Given the description of an element on the screen output the (x, y) to click on. 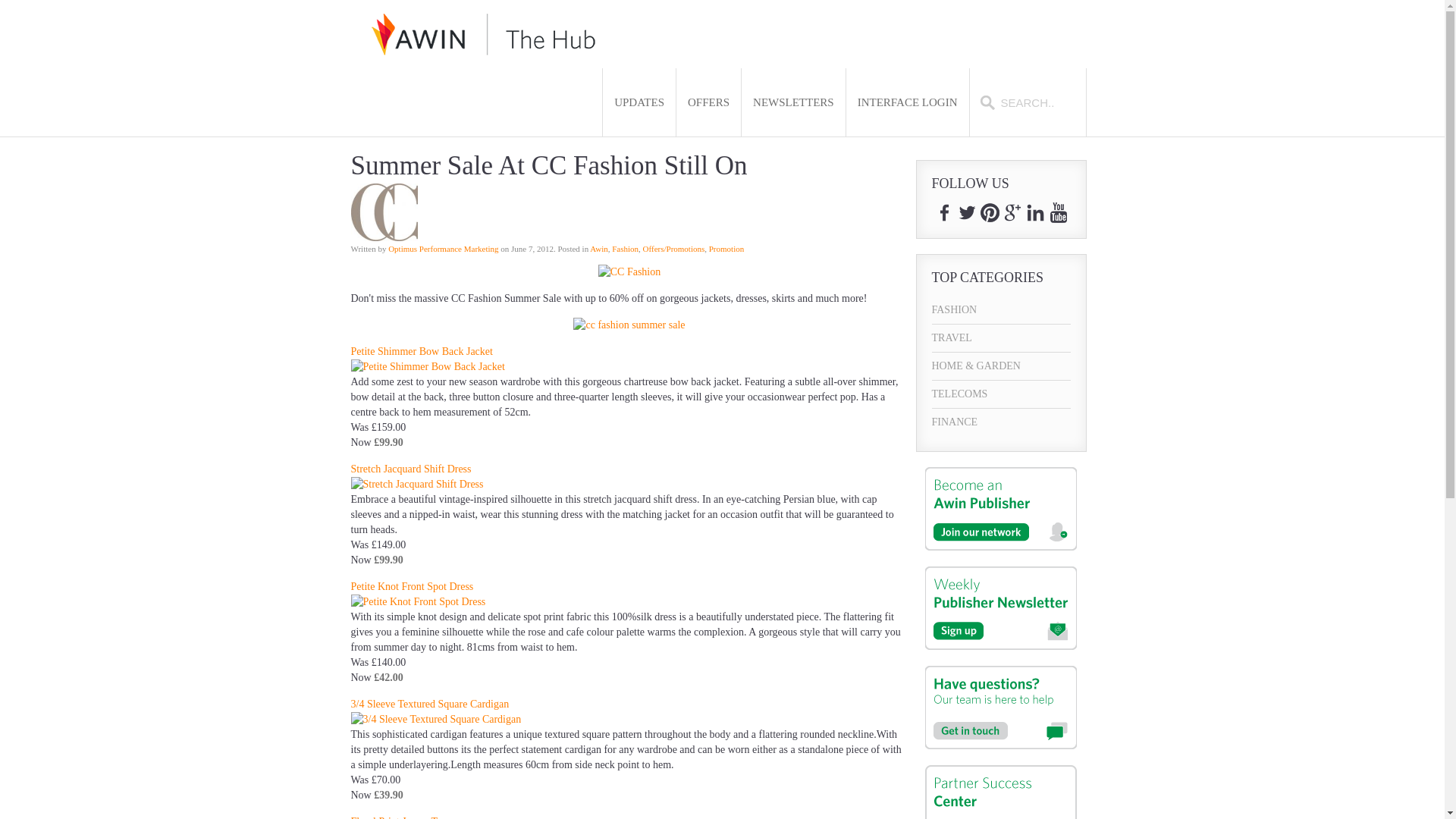
Optimus Performance Marketing (442, 248)
Promotion (726, 248)
Petite Shimmer Bow Back Jacket (421, 351)
Stretch Jacquard Shift Dress (410, 469)
Petite Knot Front Spot Dress (411, 586)
Fashion (625, 248)
NEWSLETTERS (793, 102)
Awin (598, 248)
OFFERS (708, 102)
Floral Print Jersey Top (398, 817)
UPDATES (639, 102)
Reset (3, 2)
INTERFACE LOGIN (907, 102)
Interface Login (907, 102)
Optimus Performance Marketing (442, 248)
